Given the description of an element on the screen output the (x, y) to click on. 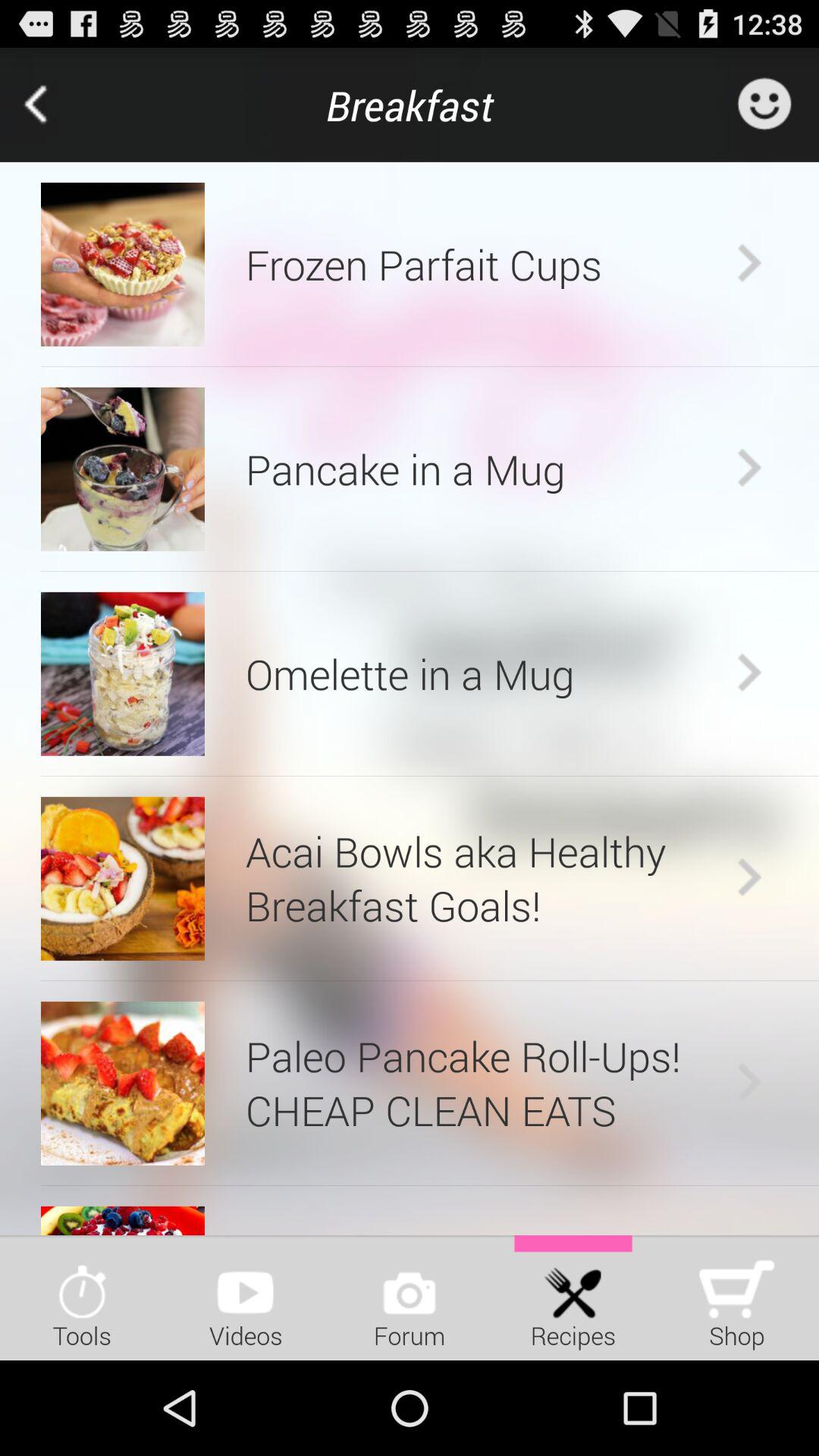
launch item next to acai bowls aka (122, 878)
